Given the description of an element on the screen output the (x, y) to click on. 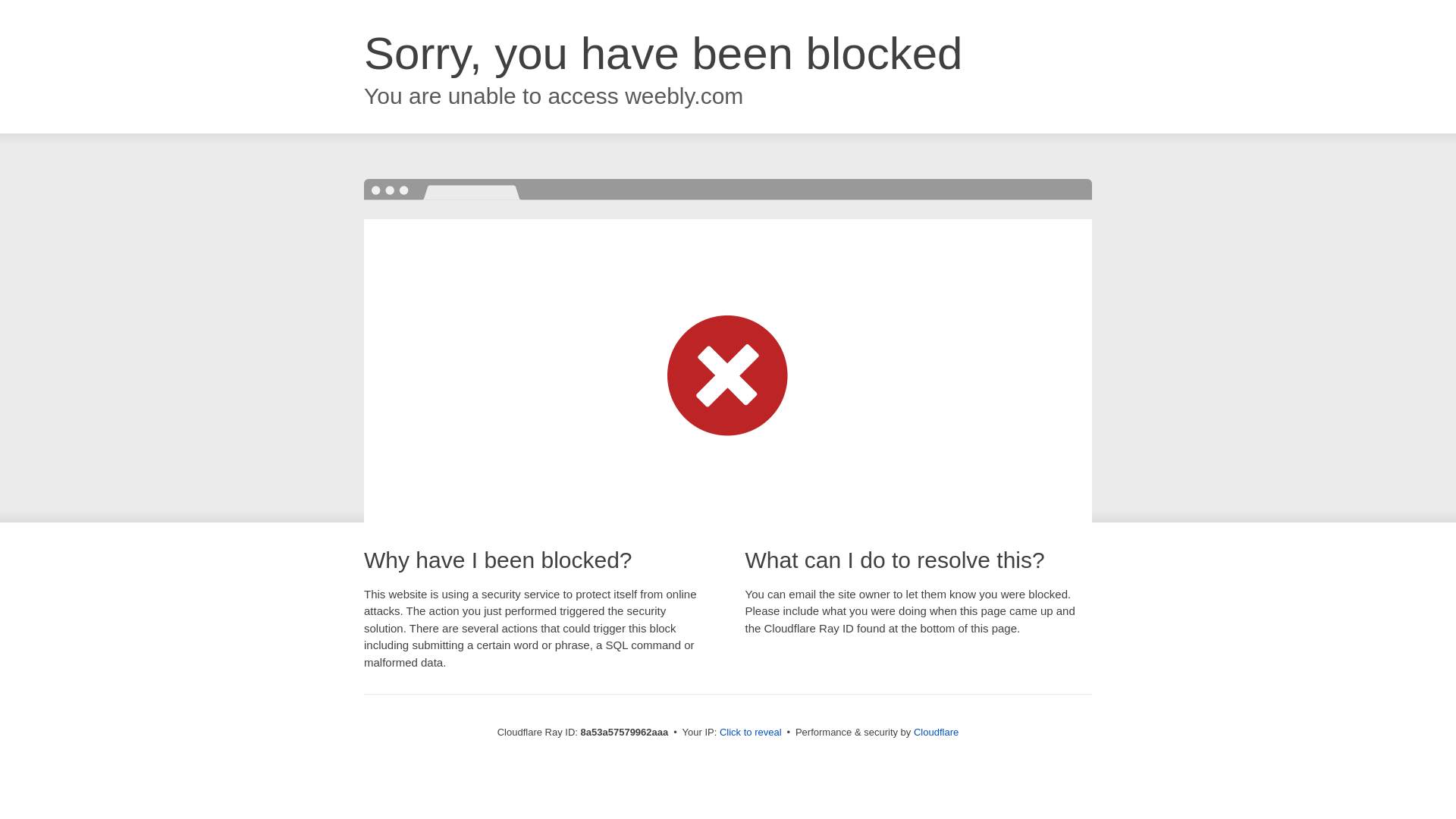
Cloudflare (936, 731)
Click to reveal (750, 732)
